Given the description of an element on the screen output the (x, y) to click on. 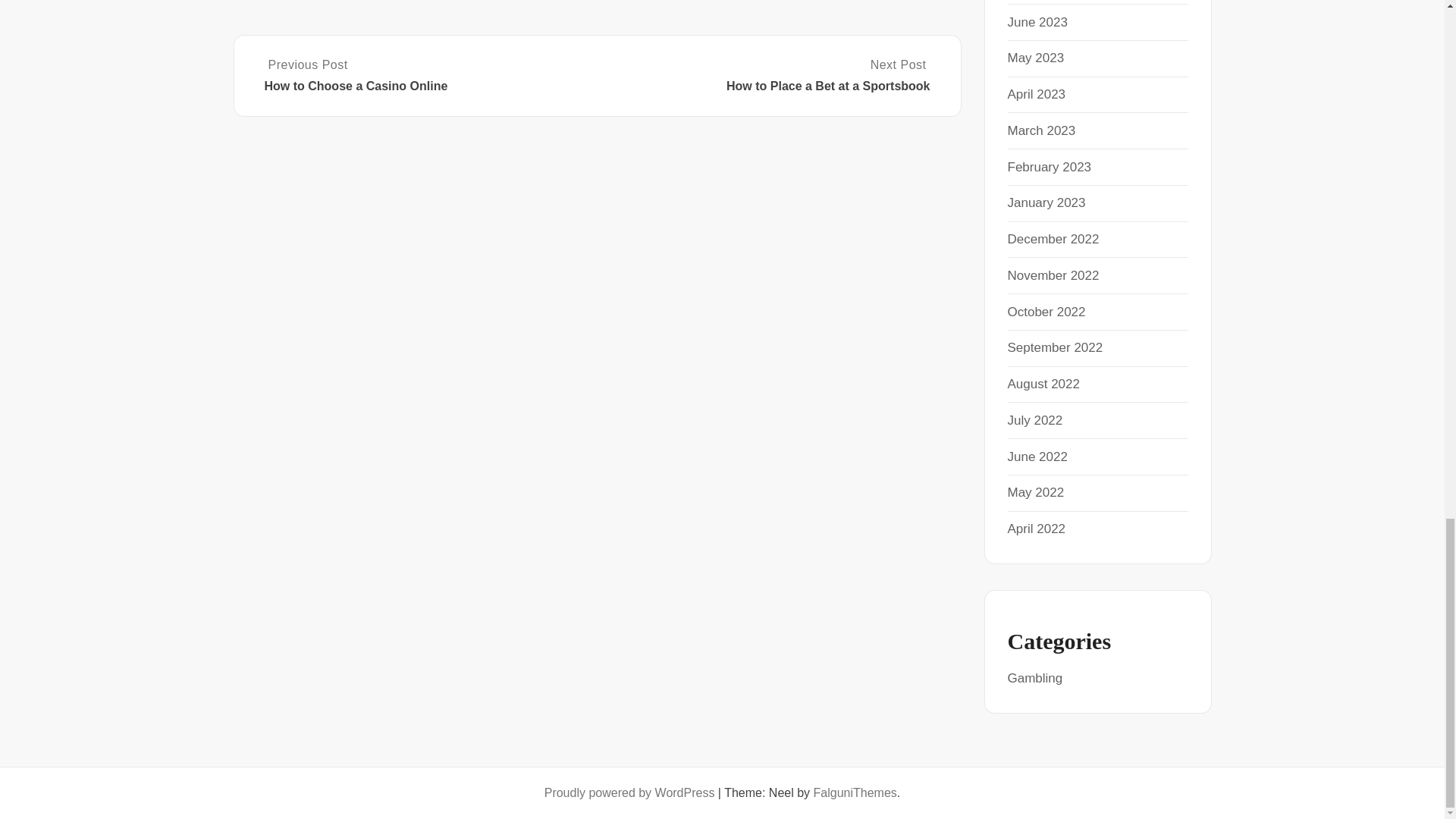
April 2023 (1036, 93)
December 2022 (1053, 238)
February 2023 (1048, 166)
May 2023 (1035, 57)
June 2023 (1037, 22)
March 2023 (1041, 130)
January 2023 (1045, 202)
